Given the description of an element on the screen output the (x, y) to click on. 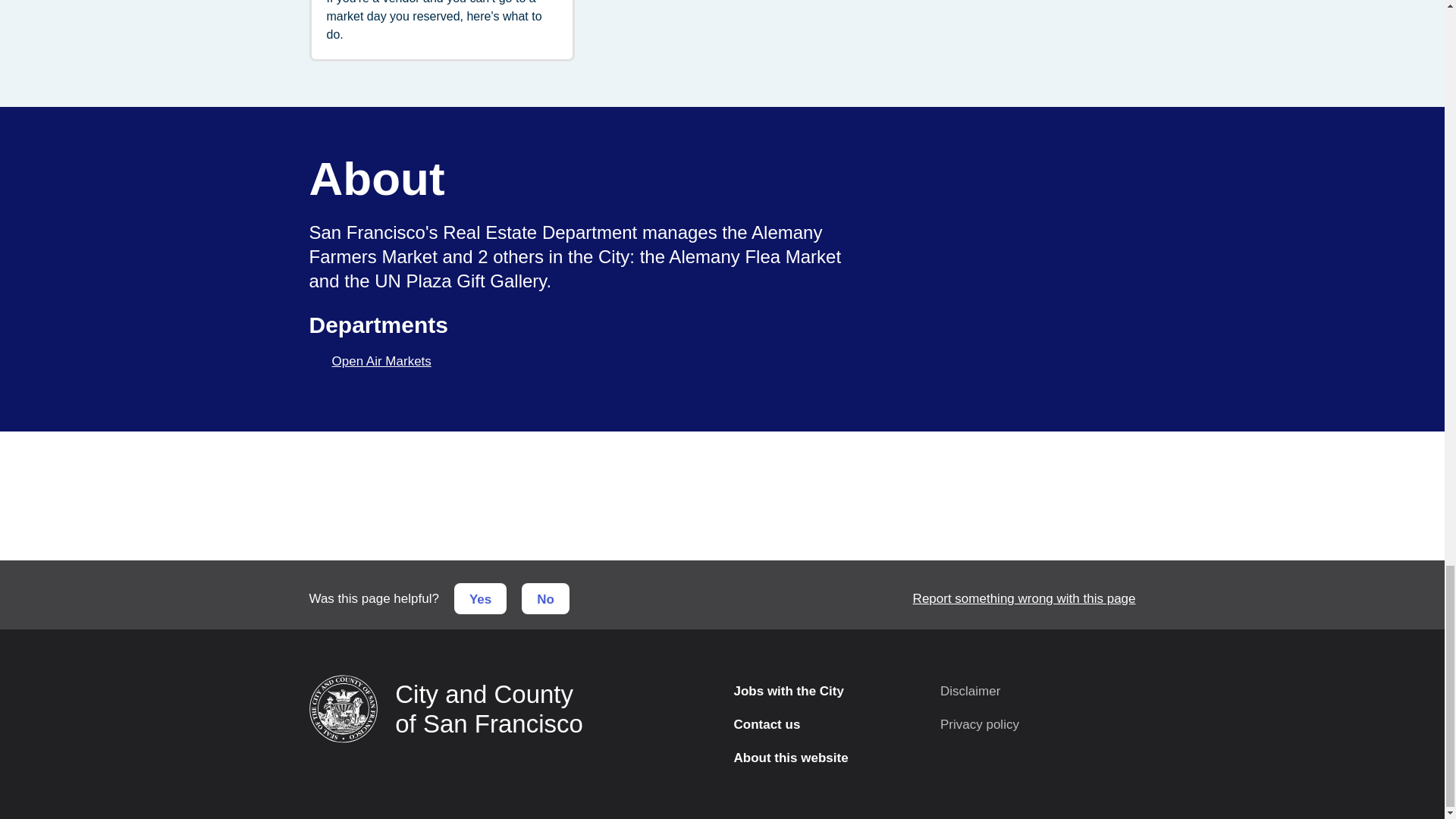
About this website (825, 758)
Privacy policy (1031, 725)
Disclaimer (1031, 691)
Contact us (825, 725)
Privacy policy (1031, 725)
Open Air Markets (380, 360)
About this website (825, 758)
Contact us (825, 725)
Disclaimer (1031, 691)
Jobs with the City (825, 691)
